Given the description of an element on the screen output the (x, y) to click on. 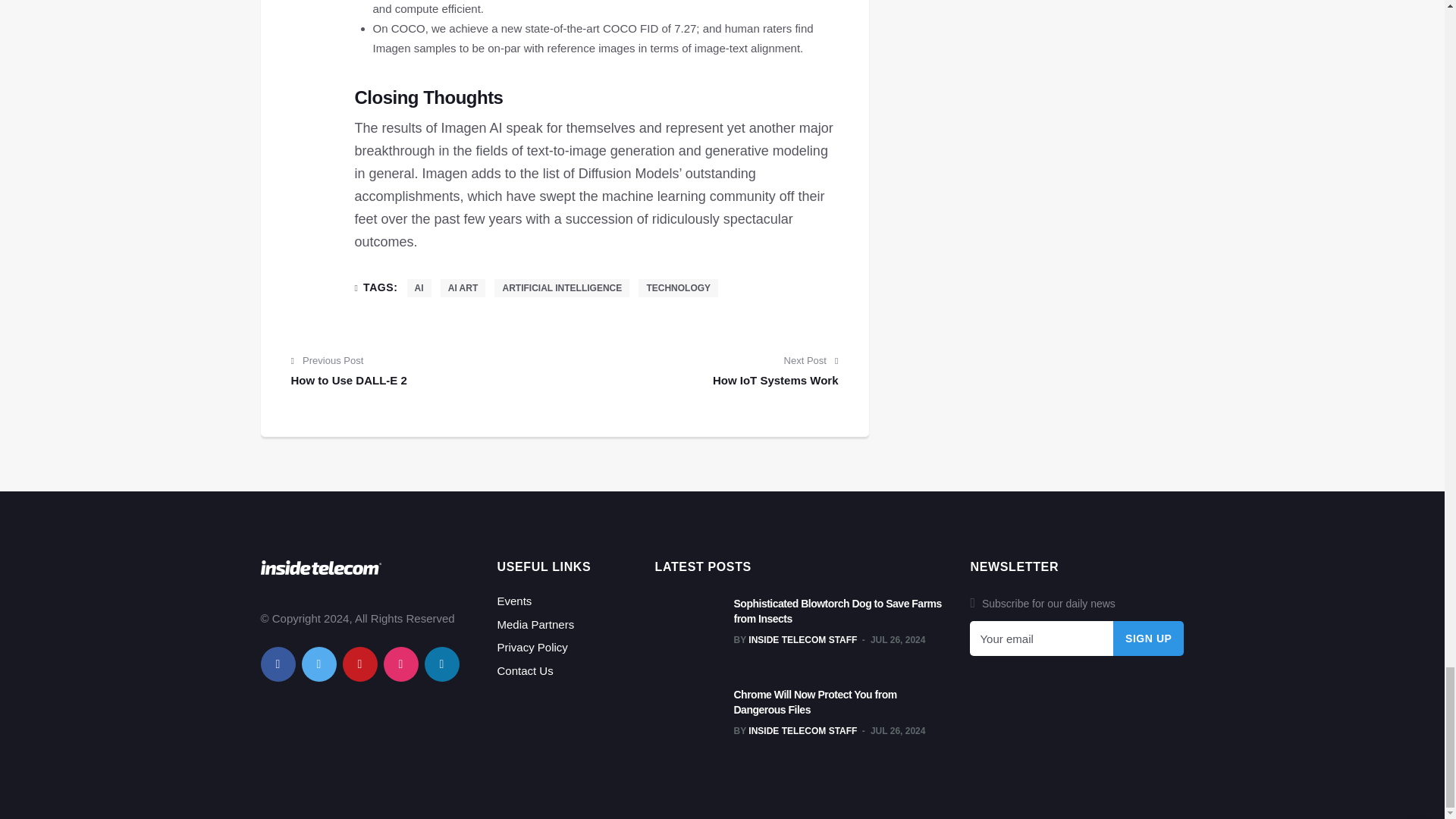
Sign Up (1149, 638)
